Given the description of an element on the screen output the (x, y) to click on. 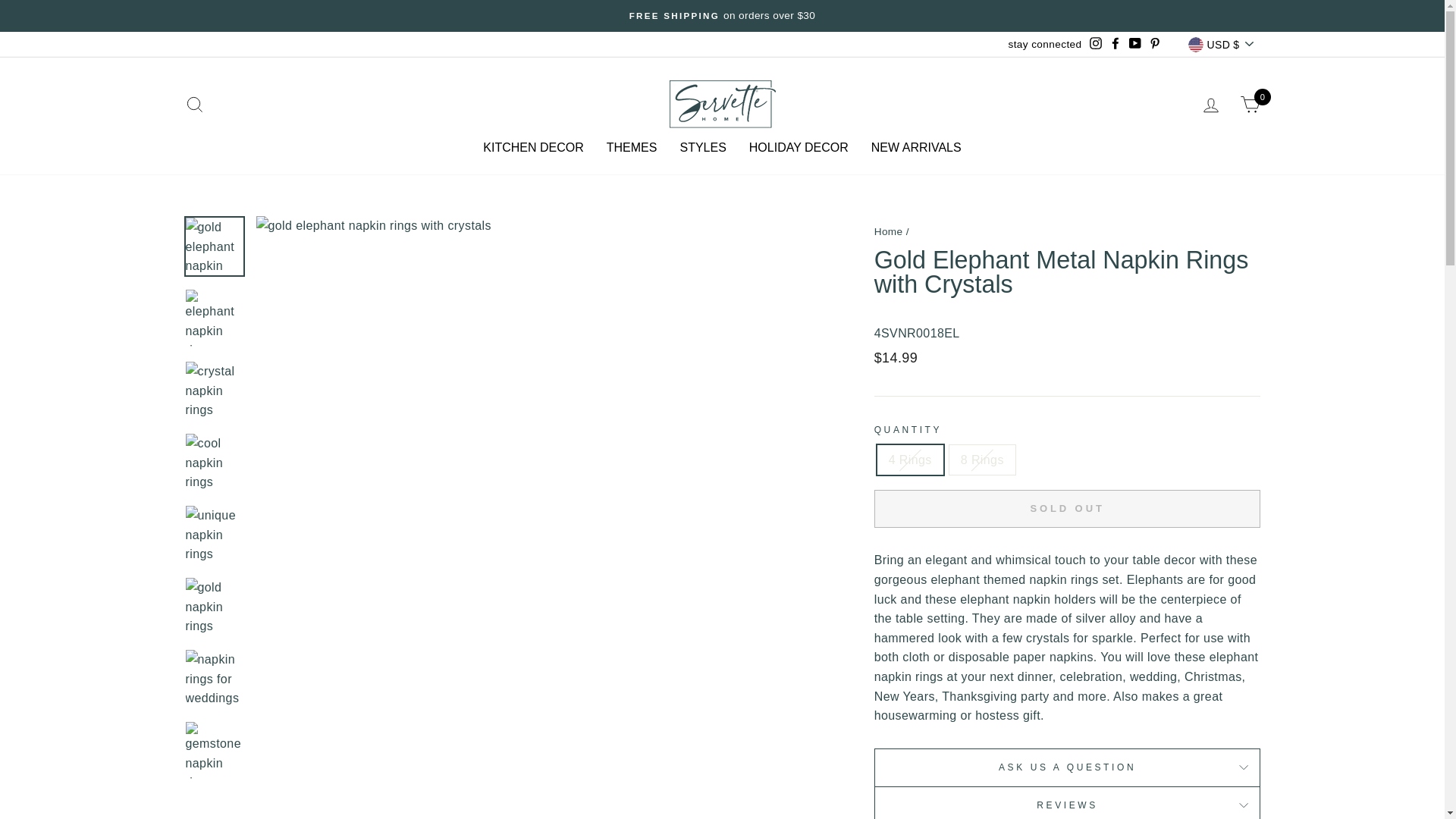
Back to the frontpage (888, 231)
